Given the description of an element on the screen output the (x, y) to click on. 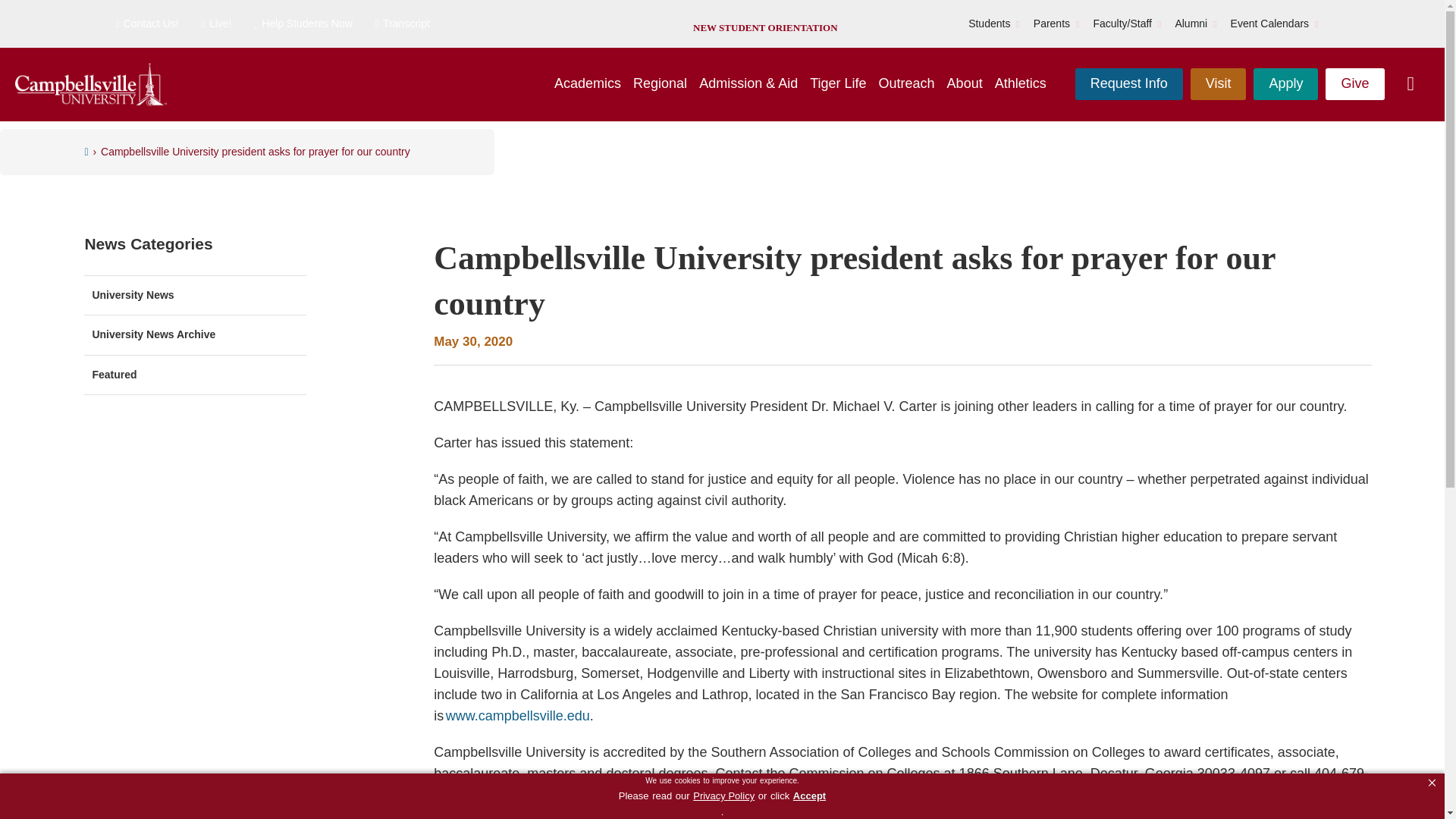
Privacy Policy (723, 796)
Live! (216, 24)
NEW STUDENT ORIENTATION (765, 27)
Transcript (402, 24)
Accept (809, 796)
Help Students Now (302, 24)
Students (989, 24)
Parents (1051, 24)
Campbellsville University Logo (90, 84)
Contact Us! (146, 24)
